Given the description of an element on the screen output the (x, y) to click on. 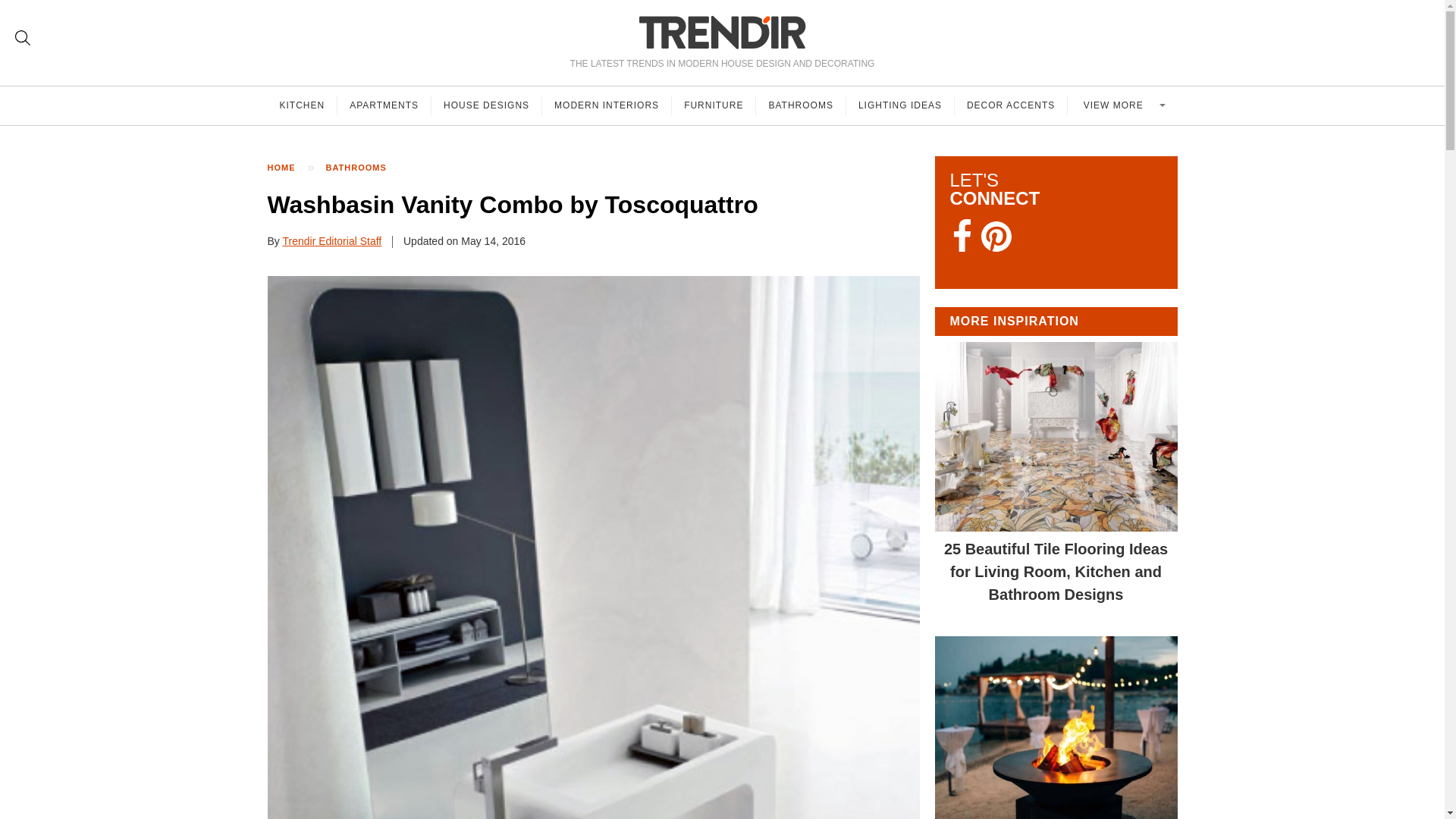
MODERN INTERIORS (606, 105)
FURNITURE (713, 105)
APARTMENTS (383, 105)
KITCHEN (301, 105)
VIEW MORE (1122, 105)
DECOR ACCENTS (1011, 105)
BATHROOMS (800, 105)
HOUSE DESIGNS (485, 105)
HOME (288, 167)
Home (288, 167)
